Given the description of an element on the screen output the (x, y) to click on. 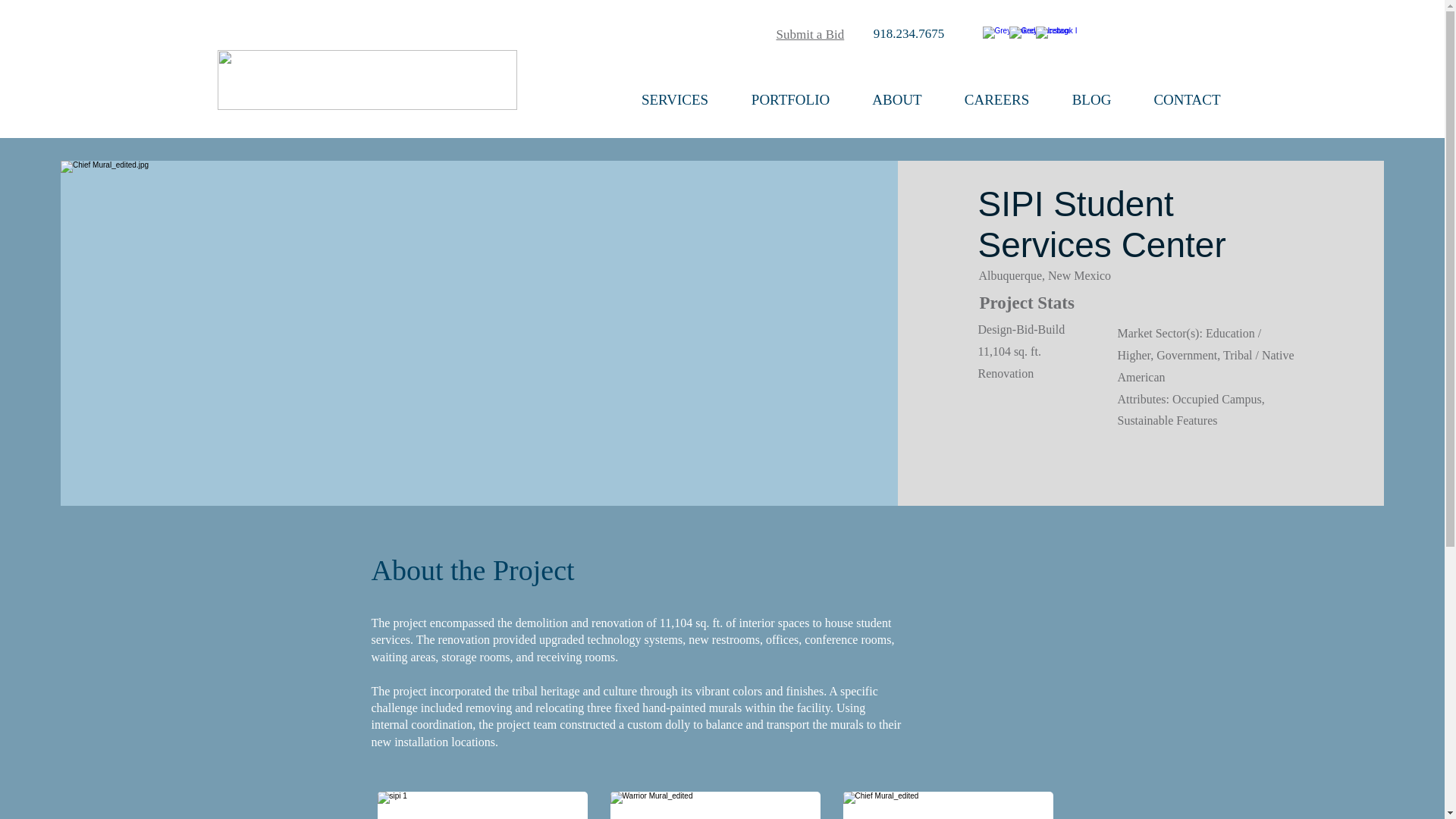
PORTFOLIO (789, 100)
SERVICES (675, 100)
CONTACT (1186, 100)
ABOUT (896, 100)
Submit a Bid (810, 34)
BLOG (1091, 100)
CAREERS (997, 100)
